Given the description of an element on the screen output the (x, y) to click on. 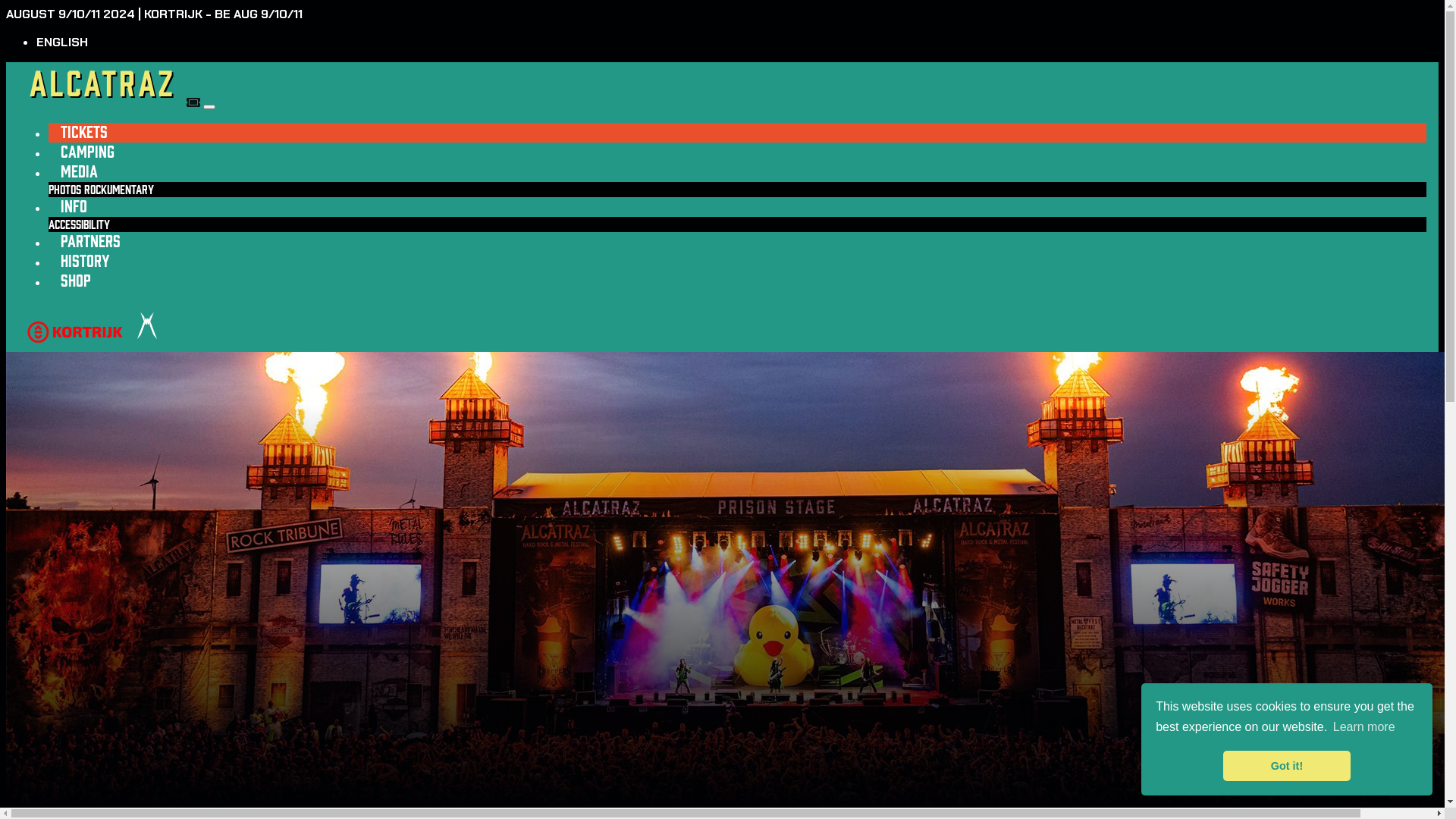
Learn more Element type: text (1363, 726)
INFO Element type: text (73, 206)
PHOTOS Element type: text (64, 189)
CAMPING Element type: text (87, 151)
Got it! Element type: text (1286, 765)
HISTORY Element type: text (84, 260)
kortrijk Element type: hover (74, 343)
SHOP Element type: text (75, 280)
ACCESSIBILITY Element type: text (78, 224)
PARTNERS Element type: text (90, 241)
tickets Element type: hover (194, 102)
TICKETS Element type: text (83, 131)
ENGLISH Element type: text (61, 42)
MEDIA Element type: text (78, 171)
ROCKUMENTARY Element type: text (118, 189)
